Given the description of an element on the screen output the (x, y) to click on. 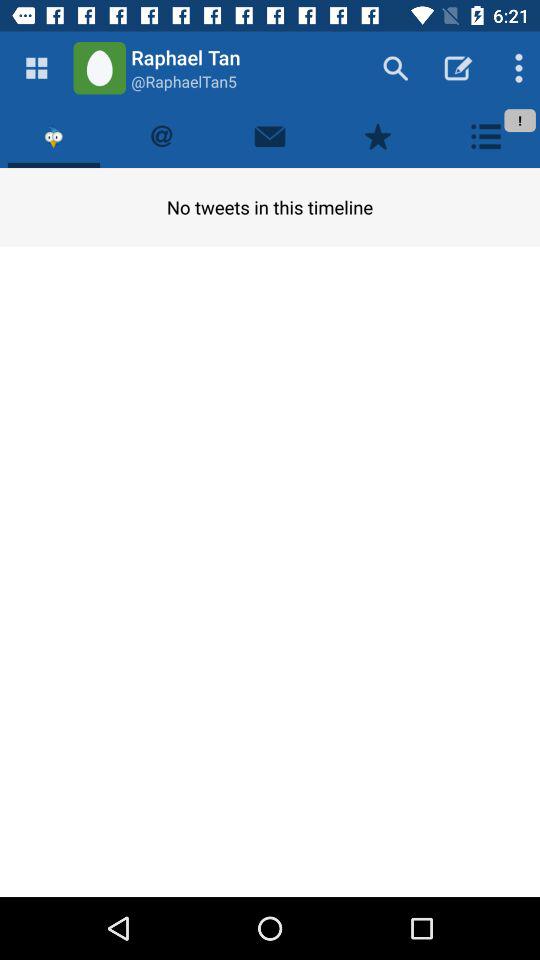
select icon above no tweets in item (486, 136)
